Given the description of an element on the screen output the (x, y) to click on. 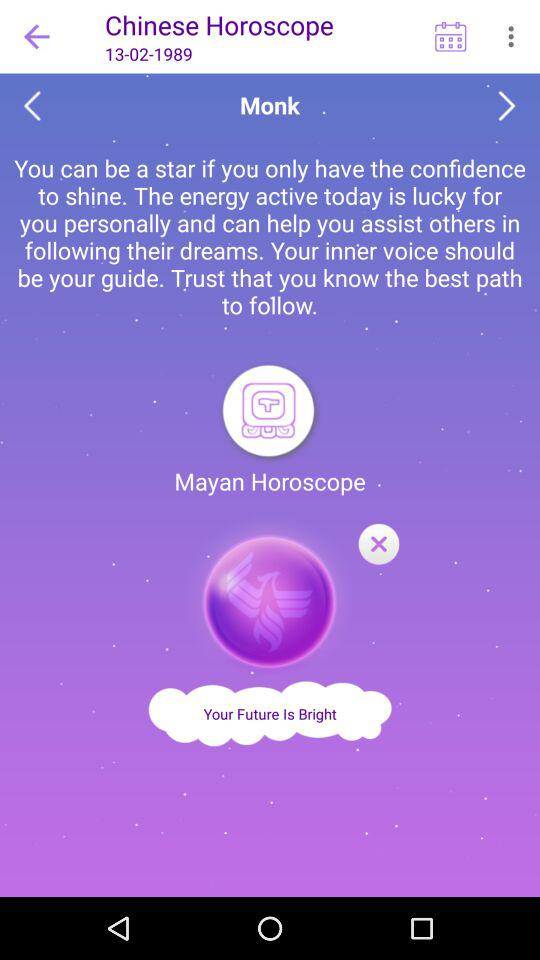
back the option (32, 106)
